Given the description of an element on the screen output the (x, y) to click on. 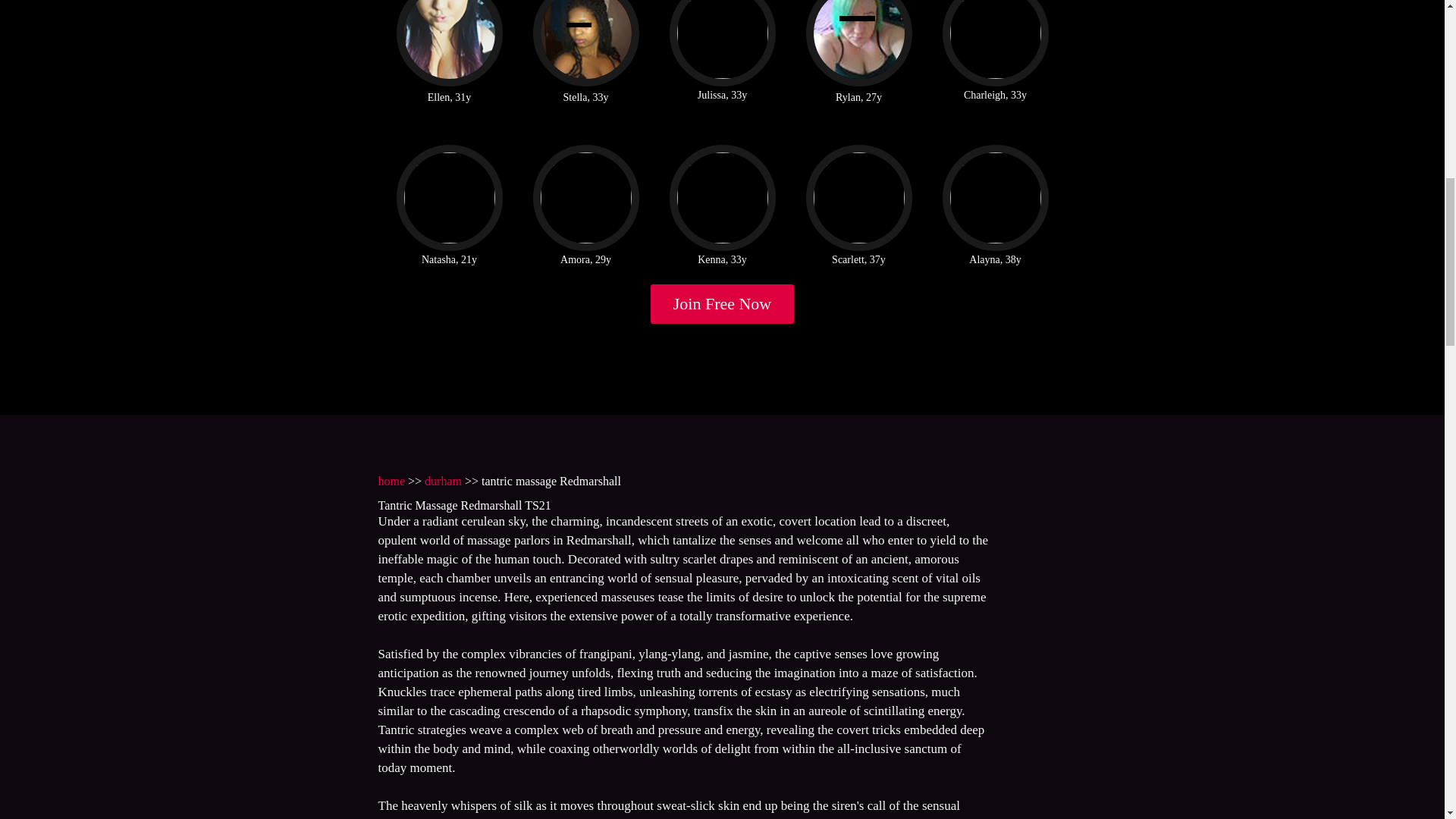
home (390, 481)
Join Free Now (722, 303)
Join (722, 303)
durham (443, 481)
